Given the description of an element on the screen output the (x, y) to click on. 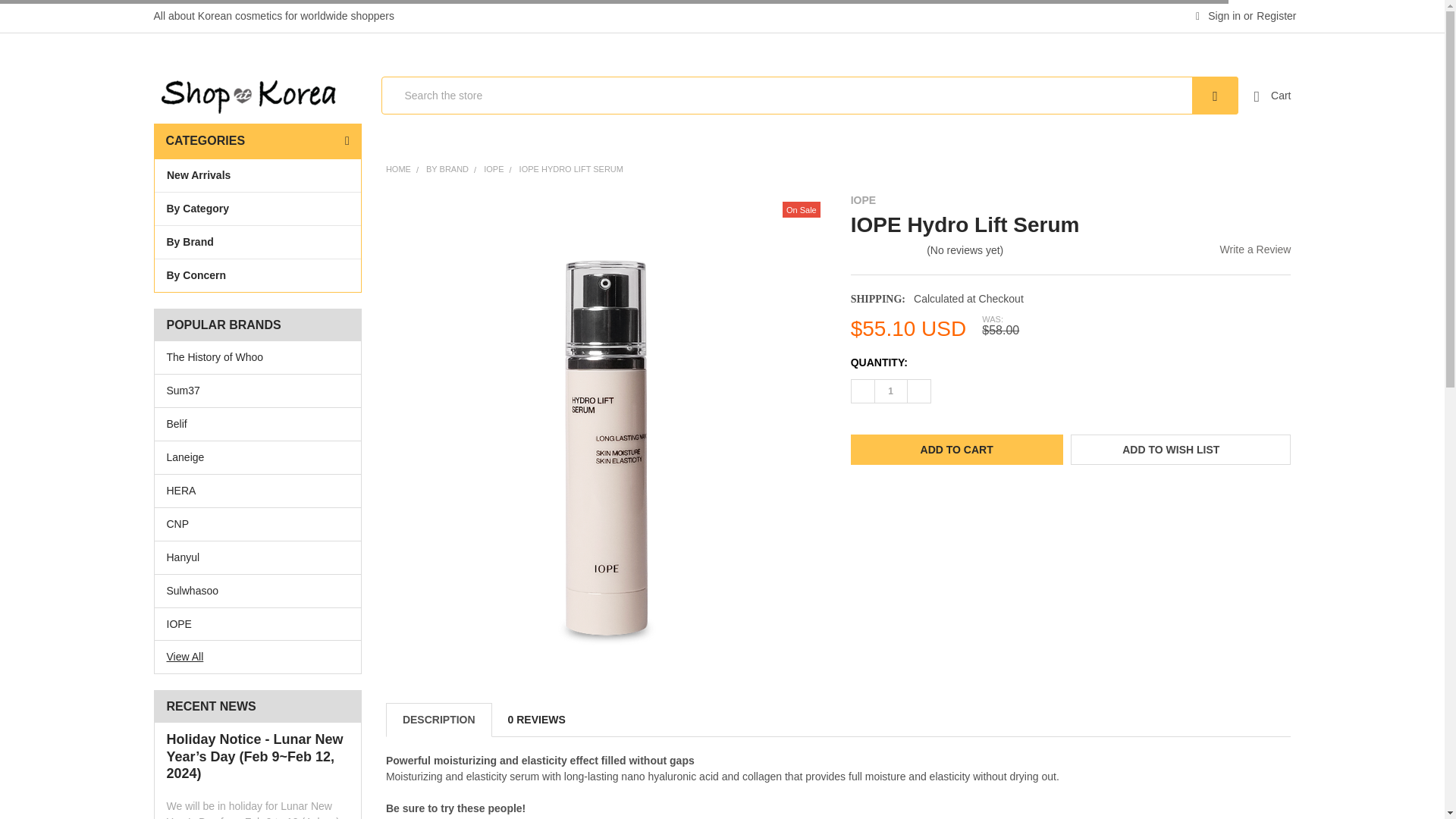
Add to Cart (956, 449)
1 (891, 390)
HERA (258, 490)
Cart (1272, 95)
Register (1275, 16)
Sign in (1218, 16)
The History of Whoo (258, 357)
Hanyul (258, 557)
Cart (1272, 95)
Search (1215, 95)
